Given the description of an element on the screen output the (x, y) to click on. 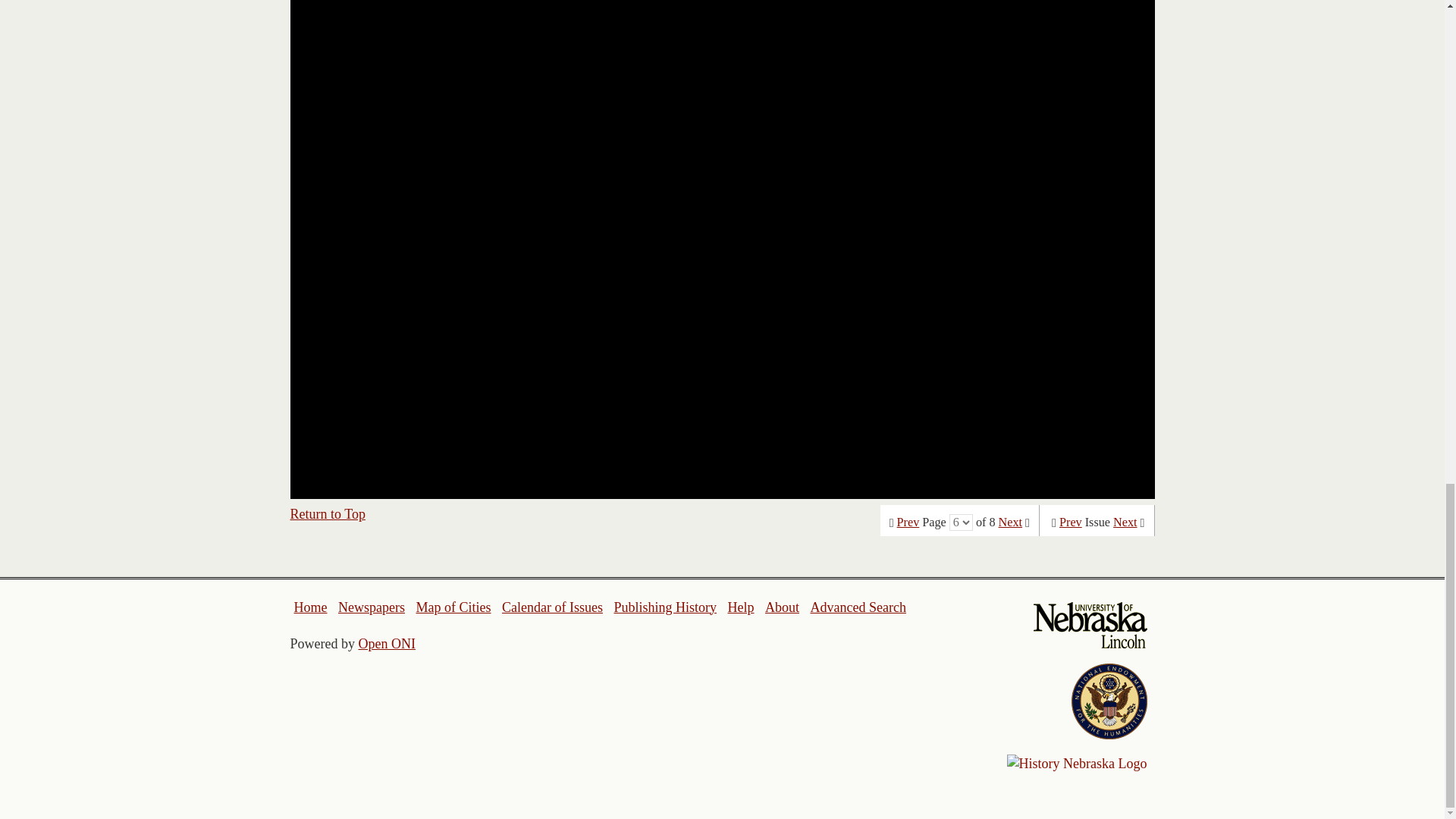
About (782, 607)
Prev (1070, 522)
Newspapers (370, 607)
Next (1125, 522)
Prev (908, 522)
Open ONI (386, 643)
Advanced Search (857, 607)
Calendar of Issues (552, 607)
Publishing History (664, 607)
Help (740, 607)
